Given the description of an element on the screen output the (x, y) to click on. 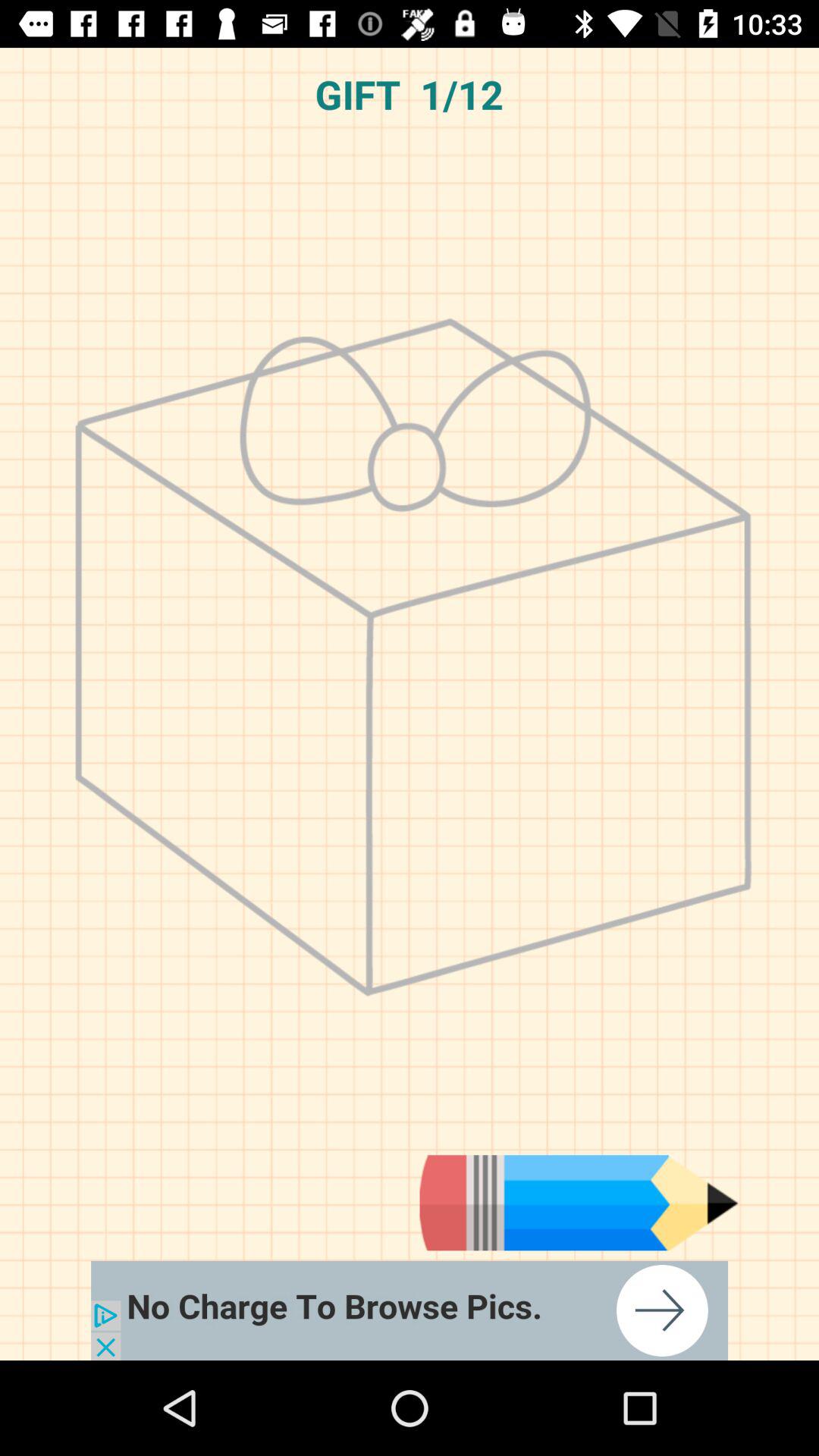
go to advertisement (578, 1202)
